Given the description of an element on the screen output the (x, y) to click on. 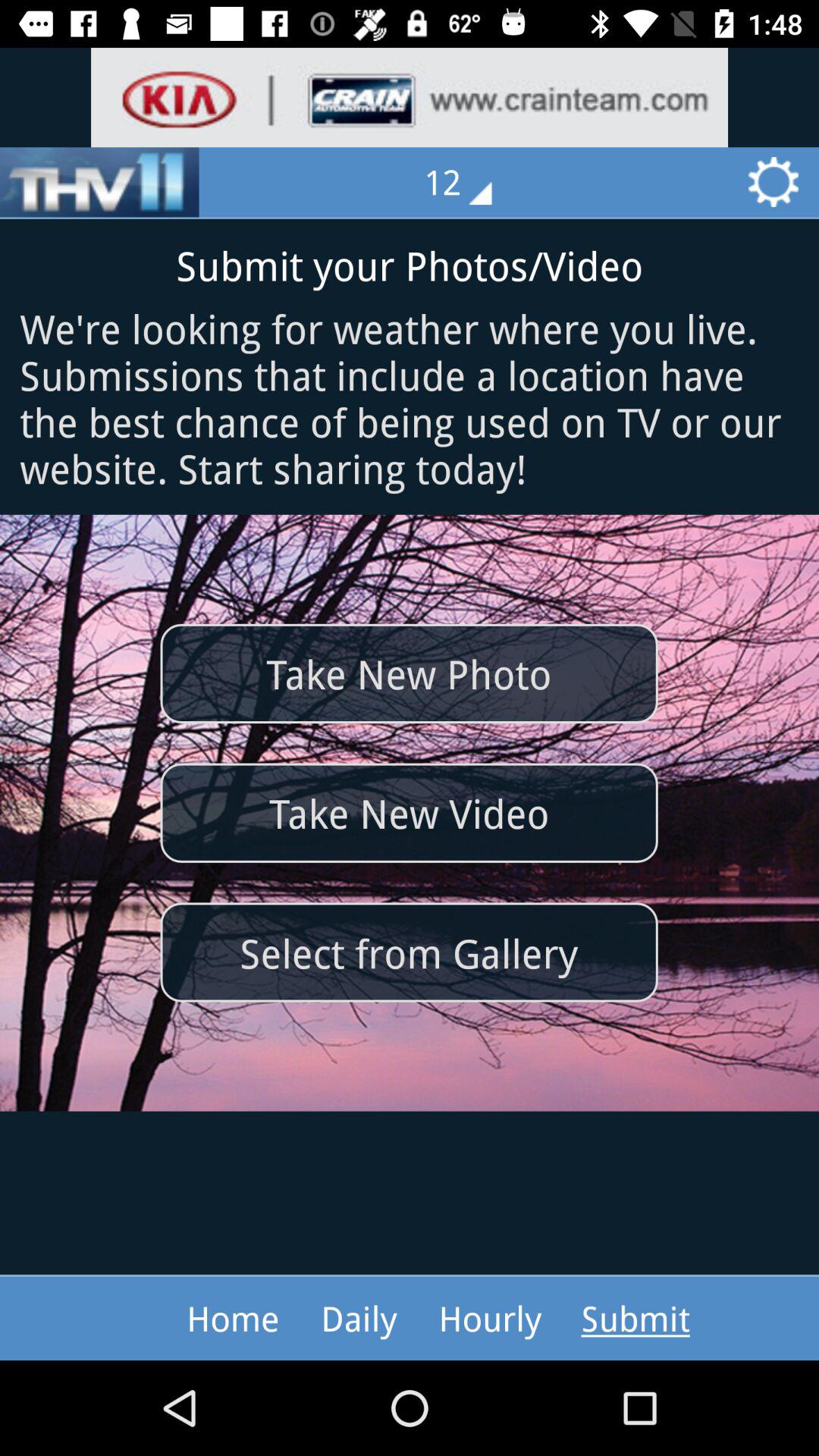
choose the item at the top left corner (99, 182)
